Given the description of an element on the screen output the (x, y) to click on. 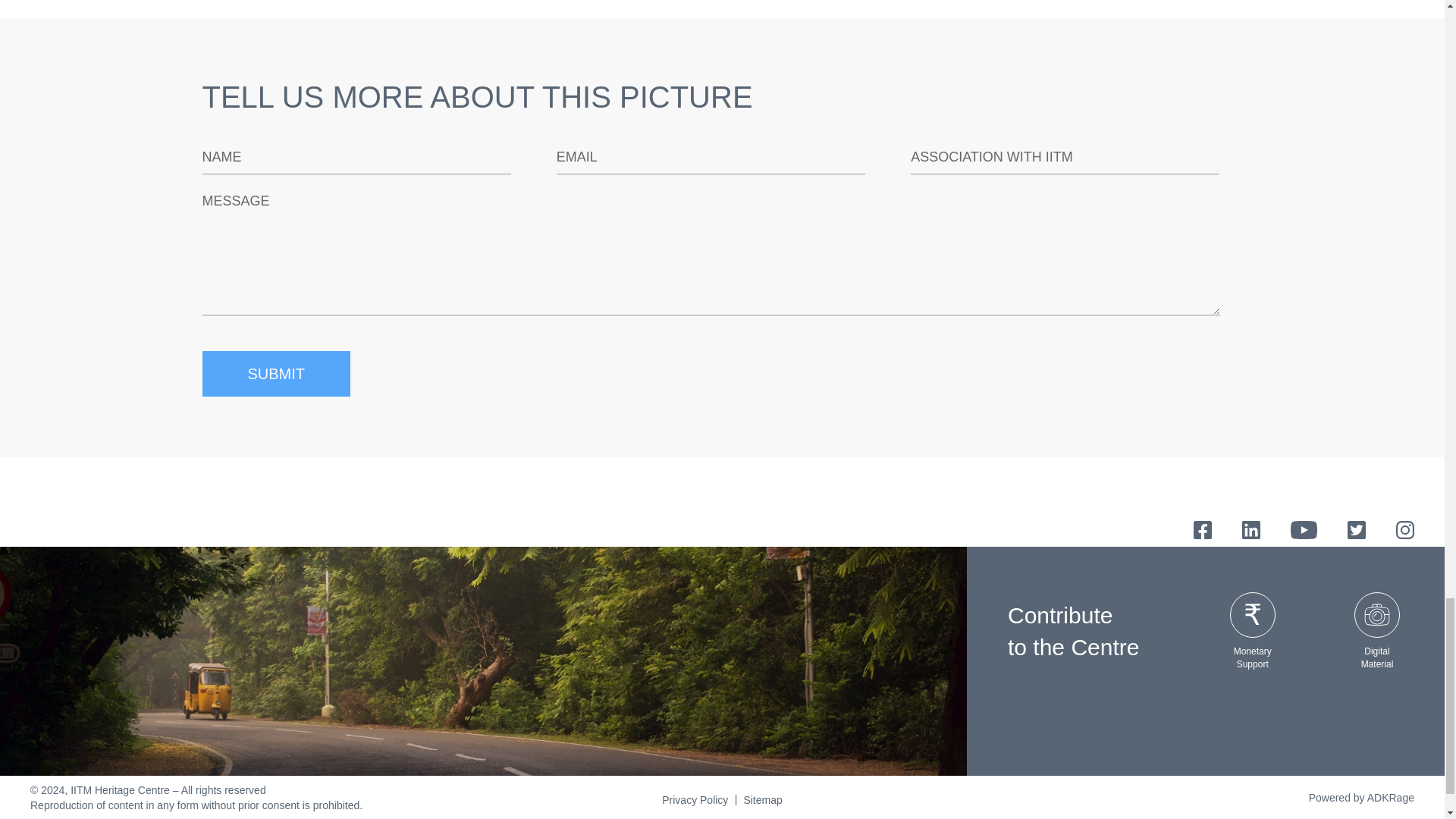
SUBMIT (276, 373)
